Given the description of an element on the screen output the (x, y) to click on. 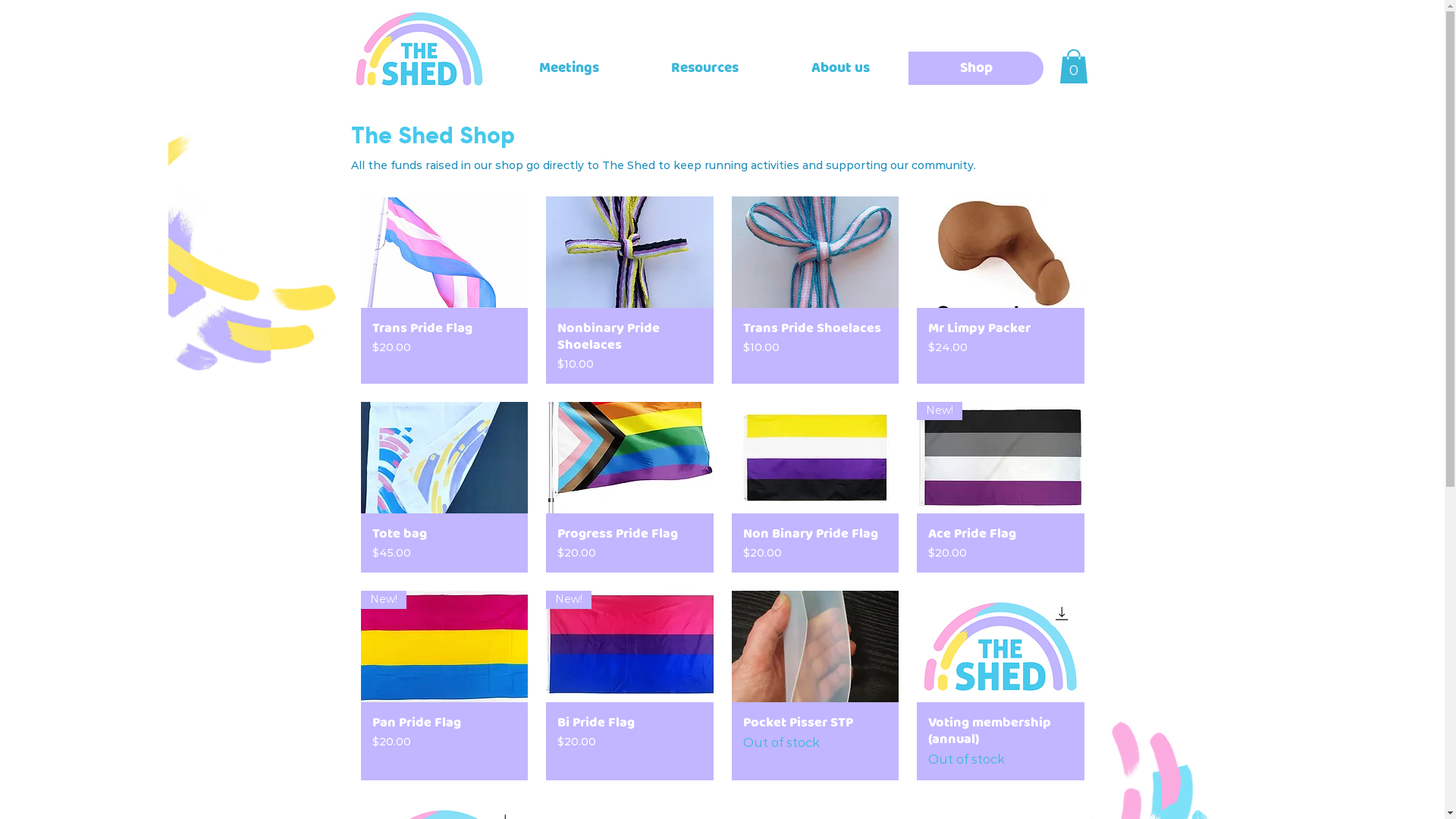
Non Binary Pride Flag
Price
$20.00 Element type: text (815, 543)
Trans Pride Shoelaces
Price
$10.00 Element type: text (815, 346)
Trans Pride Flag
Price
$20.00 Element type: text (443, 346)
New! Element type: text (629, 646)
Shop Element type: text (975, 67)
0 Element type: text (1072, 66)
Pocket Pisser STP
Out of stock Element type: text (815, 741)
Meetings Element type: text (568, 67)
New! Element type: text (1000, 457)
Progress Pride Flag
Price
$20.00 Element type: text (629, 543)
Tote bag
Price
$45.00 Element type: text (443, 543)
Nonbinary Pride Shoelaces
Price
$10.00 Element type: text (629, 346)
Resources Element type: text (704, 67)
Bi Pride Flag
Price
$20.00 Element type: text (629, 741)
Pan Pride Flag
Price
$20.00 Element type: text (443, 741)
New! Element type: text (444, 646)
Voting membership (annual)
Out of stock Element type: text (1000, 741)
About us Element type: text (839, 67)
Mr Limpy Packer
Price
$24.00 Element type: text (1000, 346)
Ace Pride Flag
Price
$20.00 Element type: text (1000, 543)
